Given the description of an element on the screen output the (x, y) to click on. 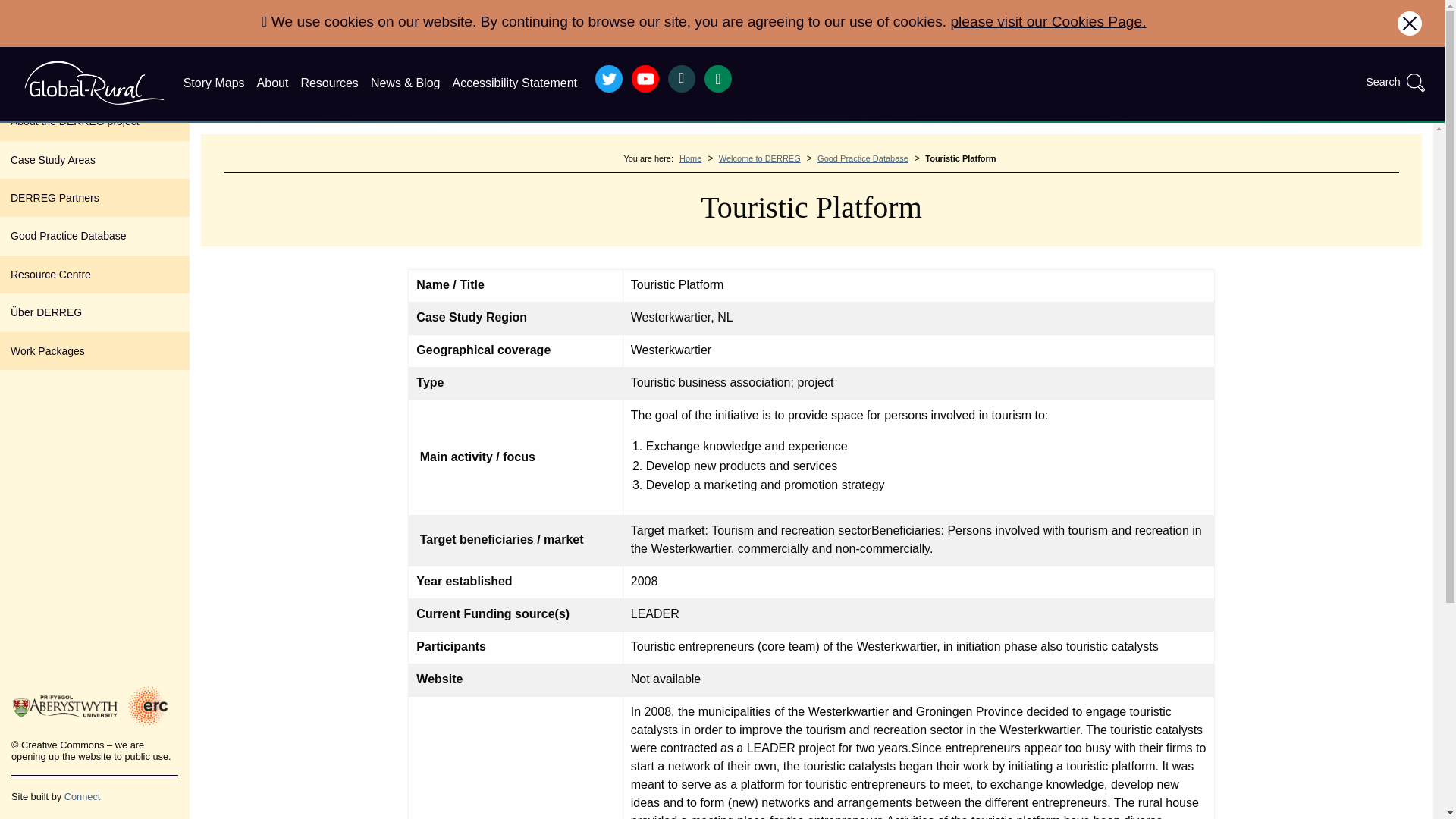
Home (690, 157)
Call: 01970622600 (718, 78)
Resources (329, 83)
YouTube (645, 78)
Global Rural (94, 81)
Connect (82, 796)
Resource Centre (94, 274)
Twitter (609, 78)
Story Maps (213, 83)
Accessibility Statement (514, 83)
